Given the description of an element on the screen output the (x, y) to click on. 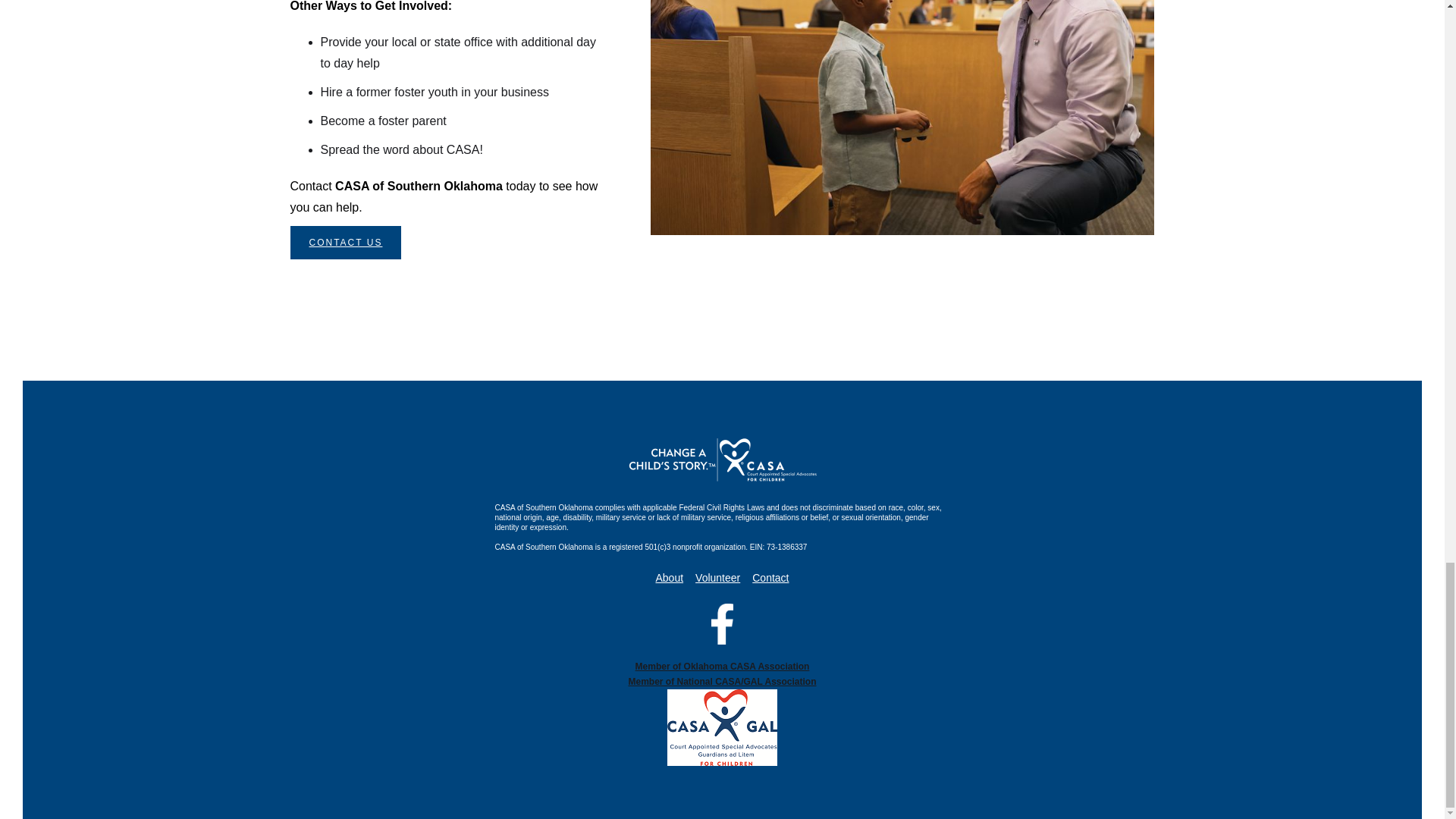
Contact (770, 577)
Member of Oklahoma CASA Association (721, 666)
Volunteer (717, 577)
About (668, 577)
CONTACT US (345, 242)
